Given the description of an element on the screen output the (x, y) to click on. 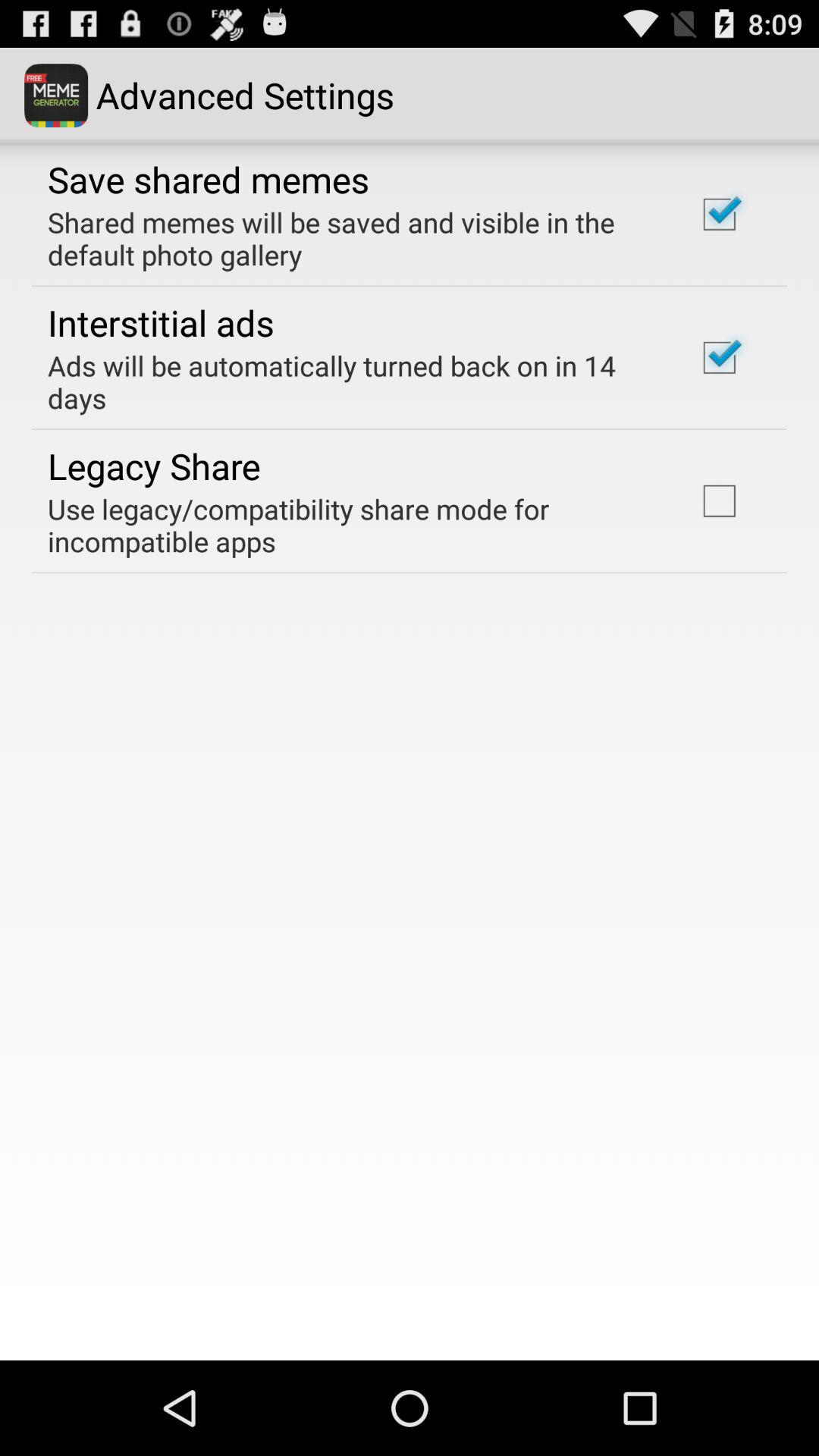
scroll to use legacy compatibility app (351, 525)
